Given the description of an element on the screen output the (x, y) to click on. 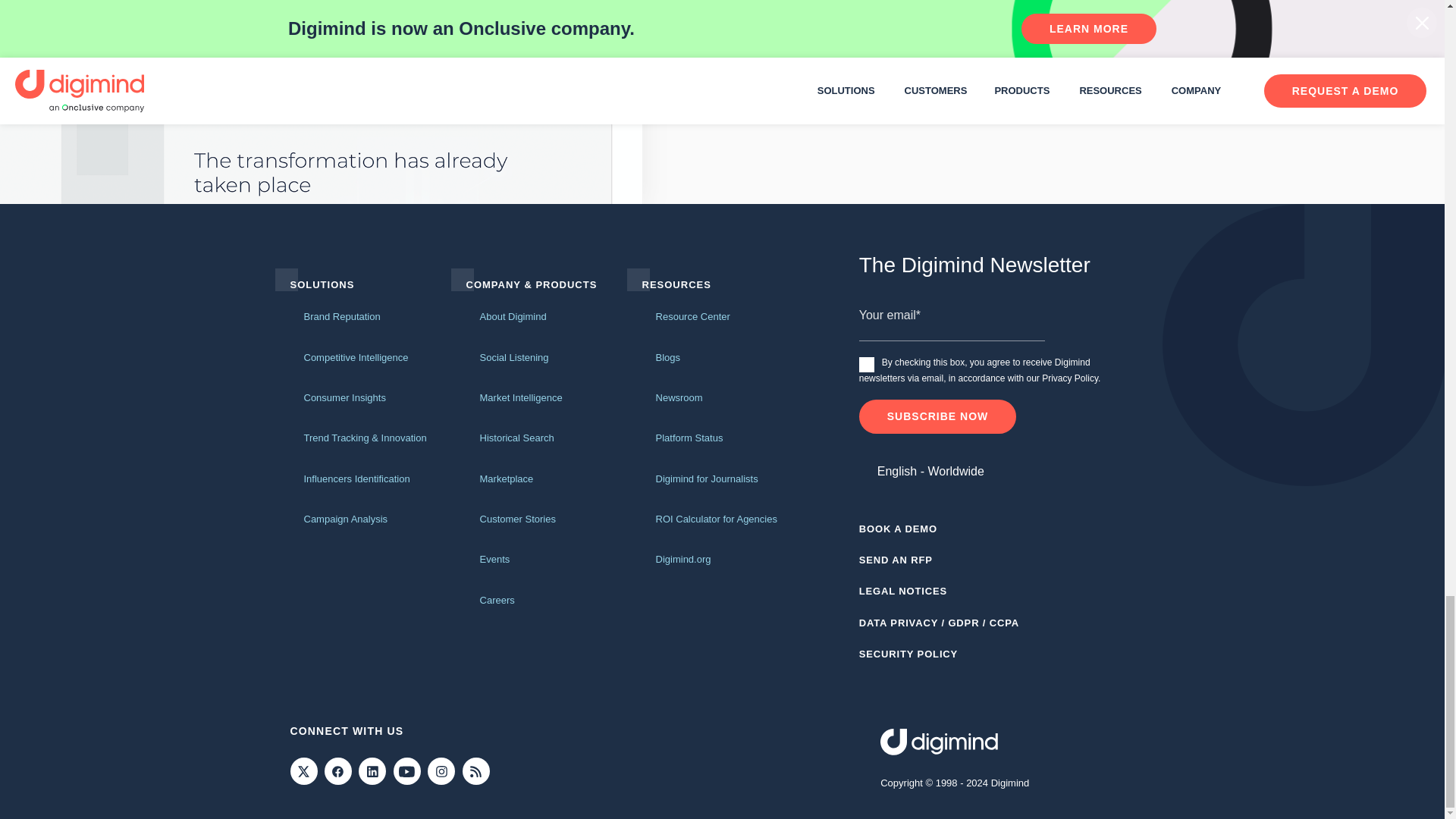
digimind-footer-logo (938, 741)
SUBSCRIBE NOW (937, 416)
